Given the description of an element on the screen output the (x, y) to click on. 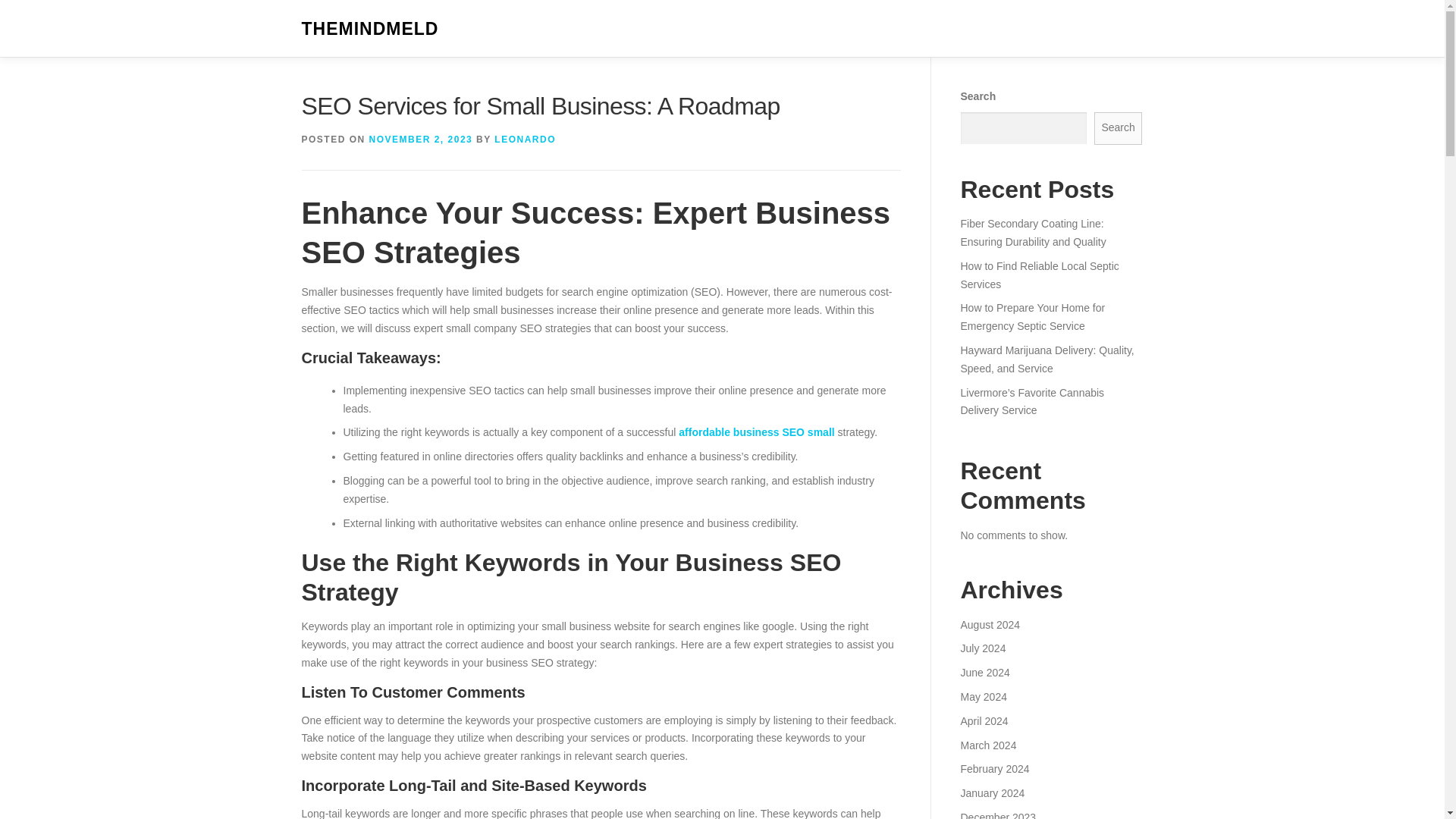
affordable business SEO small (756, 431)
August 2024 (989, 624)
March 2024 (987, 744)
May 2024 (982, 696)
February 2024 (994, 768)
Hayward Marijuana Delivery: Quality, Speed, and Service (1046, 358)
June 2024 (984, 672)
How to Find Reliable Local Septic Services (1038, 275)
April 2024 (983, 720)
THEMINDMELD (370, 29)
